Given the description of an element on the screen output the (x, y) to click on. 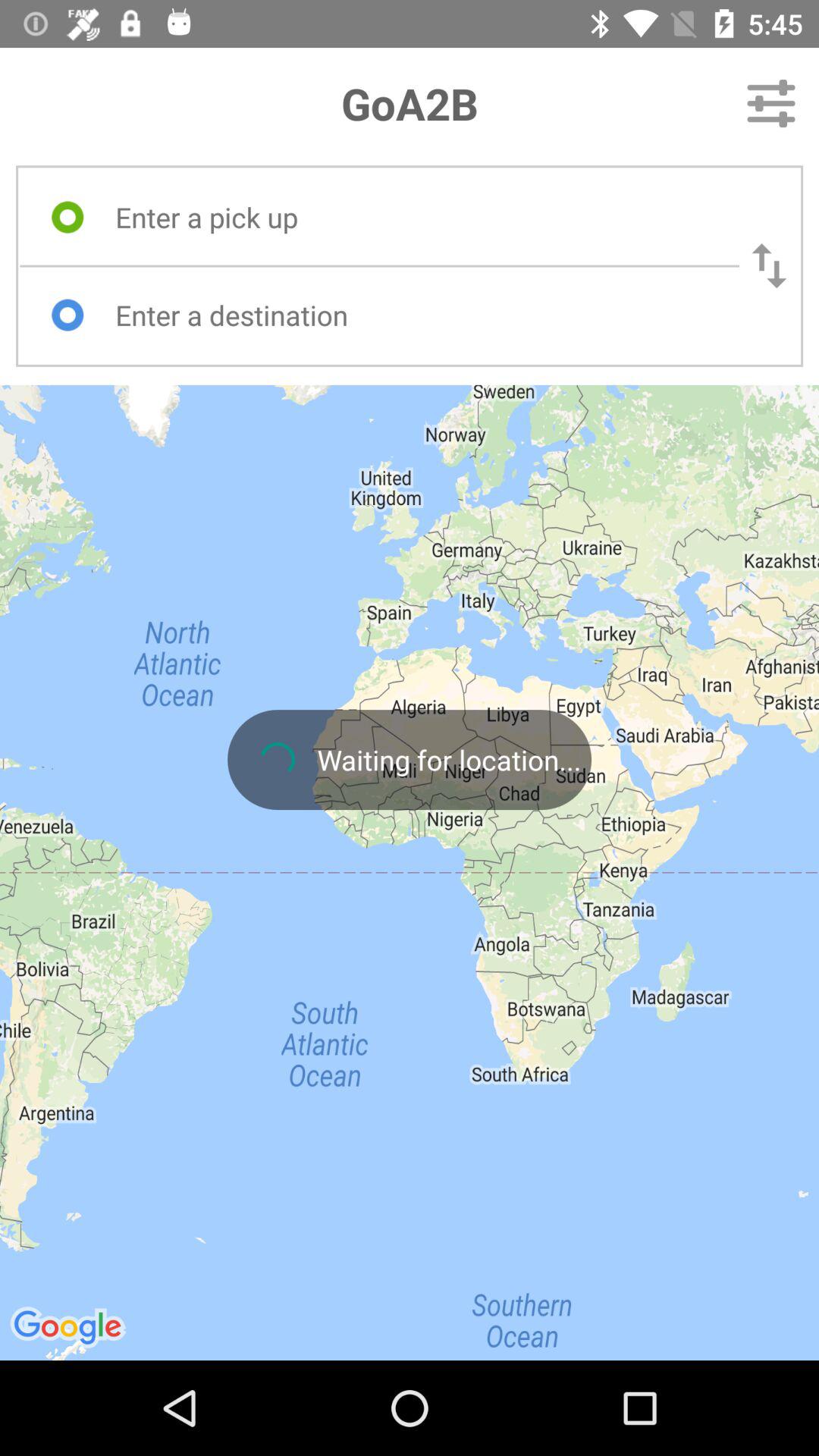
enter starting address (413, 216)
